Given the description of an element on the screen output the (x, y) to click on. 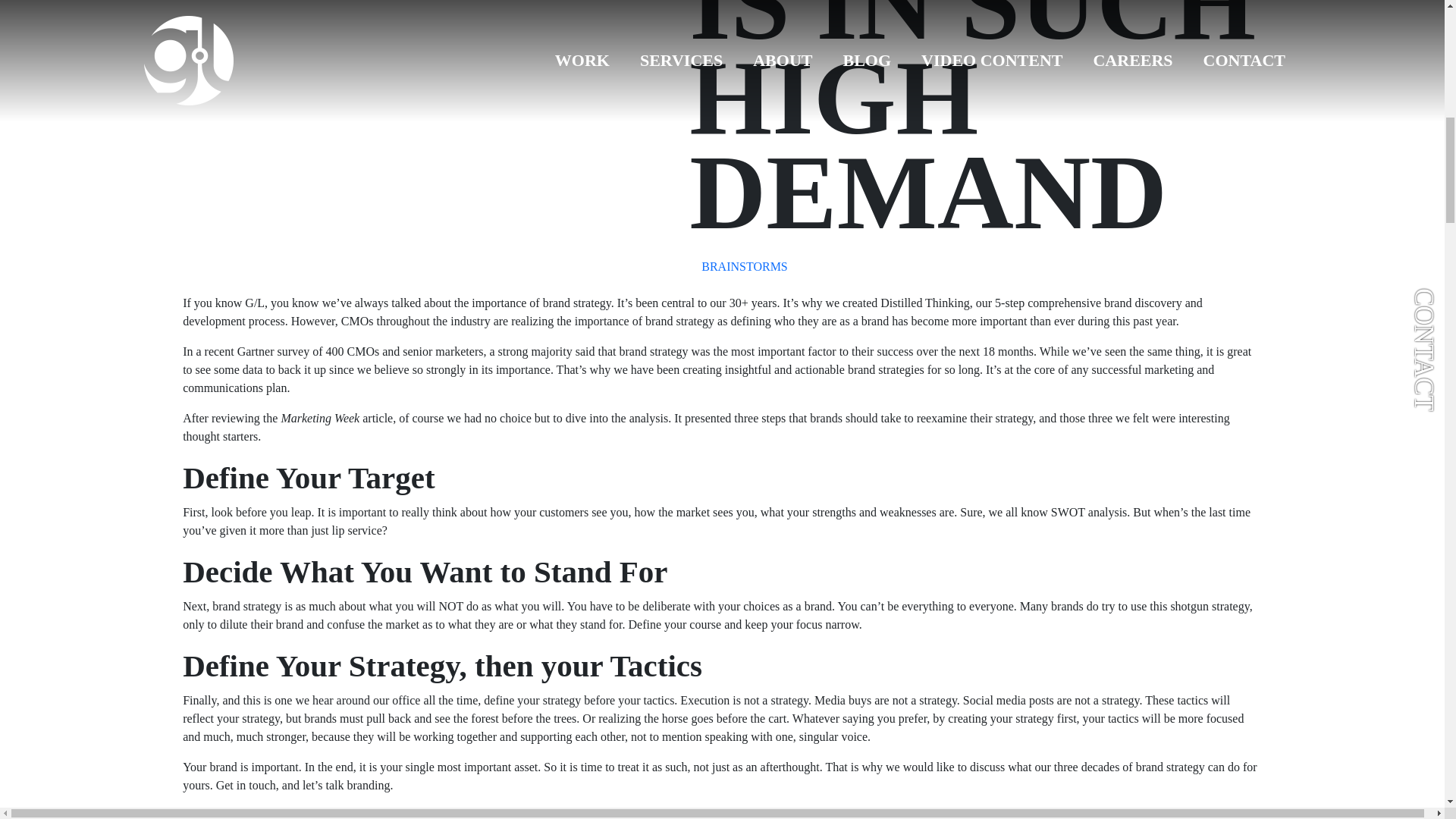
BRAINSTORMS (744, 266)
